Given the description of an element on the screen output the (x, y) to click on. 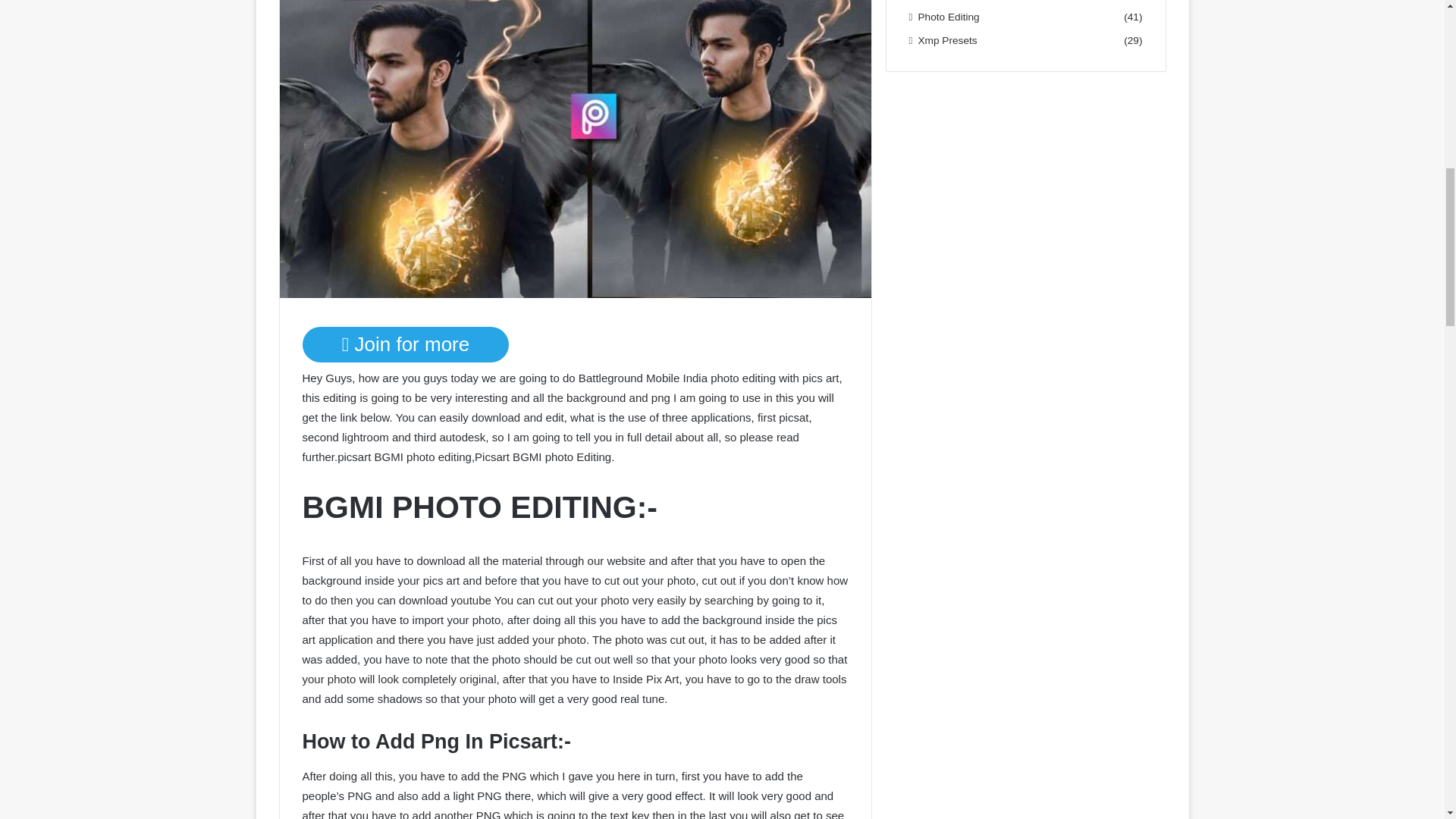
Join for more (404, 344)
